Given the description of an element on the screen output the (x, y) to click on. 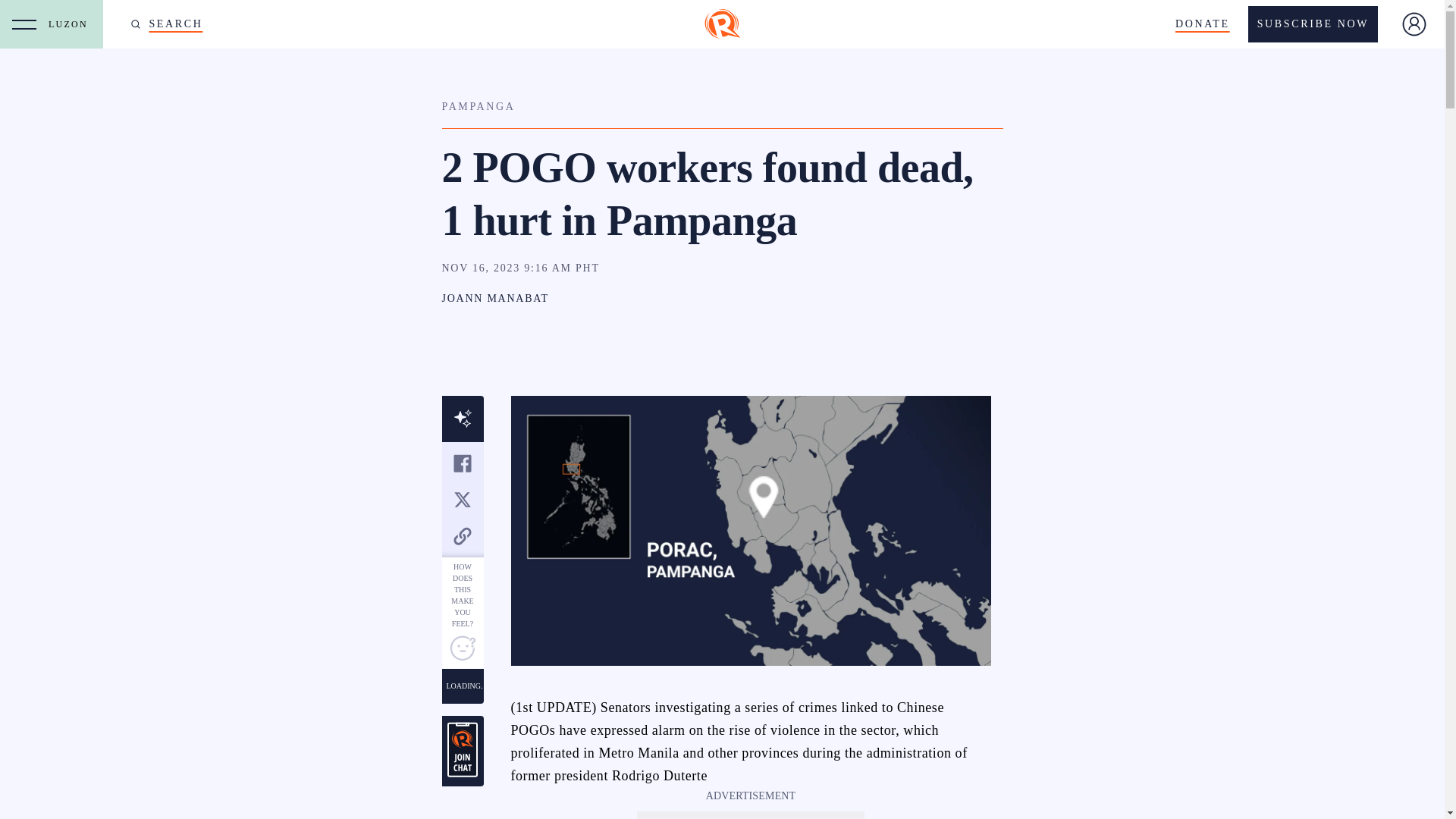
LUZON (72, 23)
OPEN NAVIGATION (24, 24)
